Given the description of an element on the screen output the (x, y) to click on. 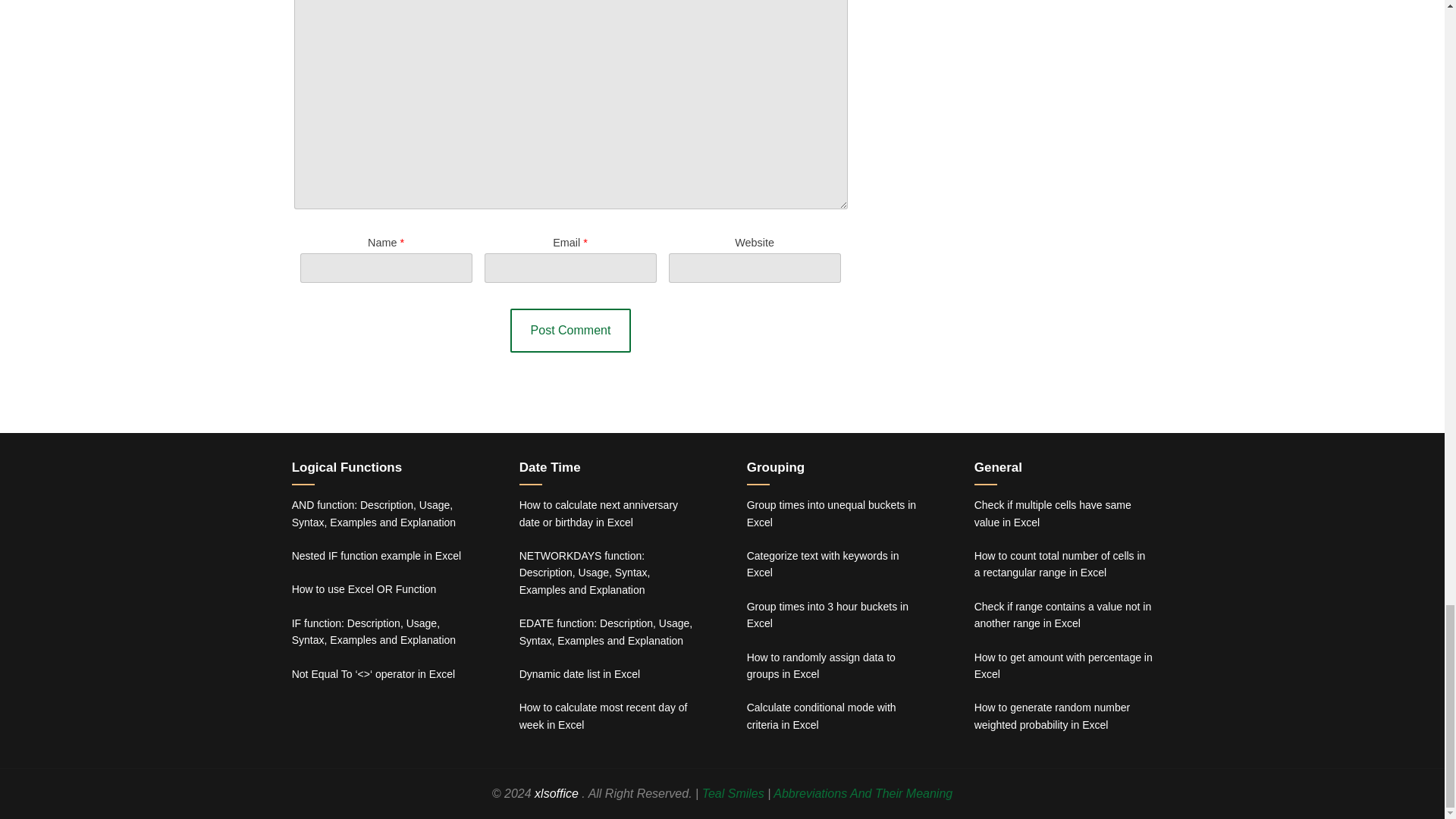
Excel At A Glance (557, 793)
Post Comment (571, 330)
Post Comment (571, 330)
